Given the description of an element on the screen output the (x, y) to click on. 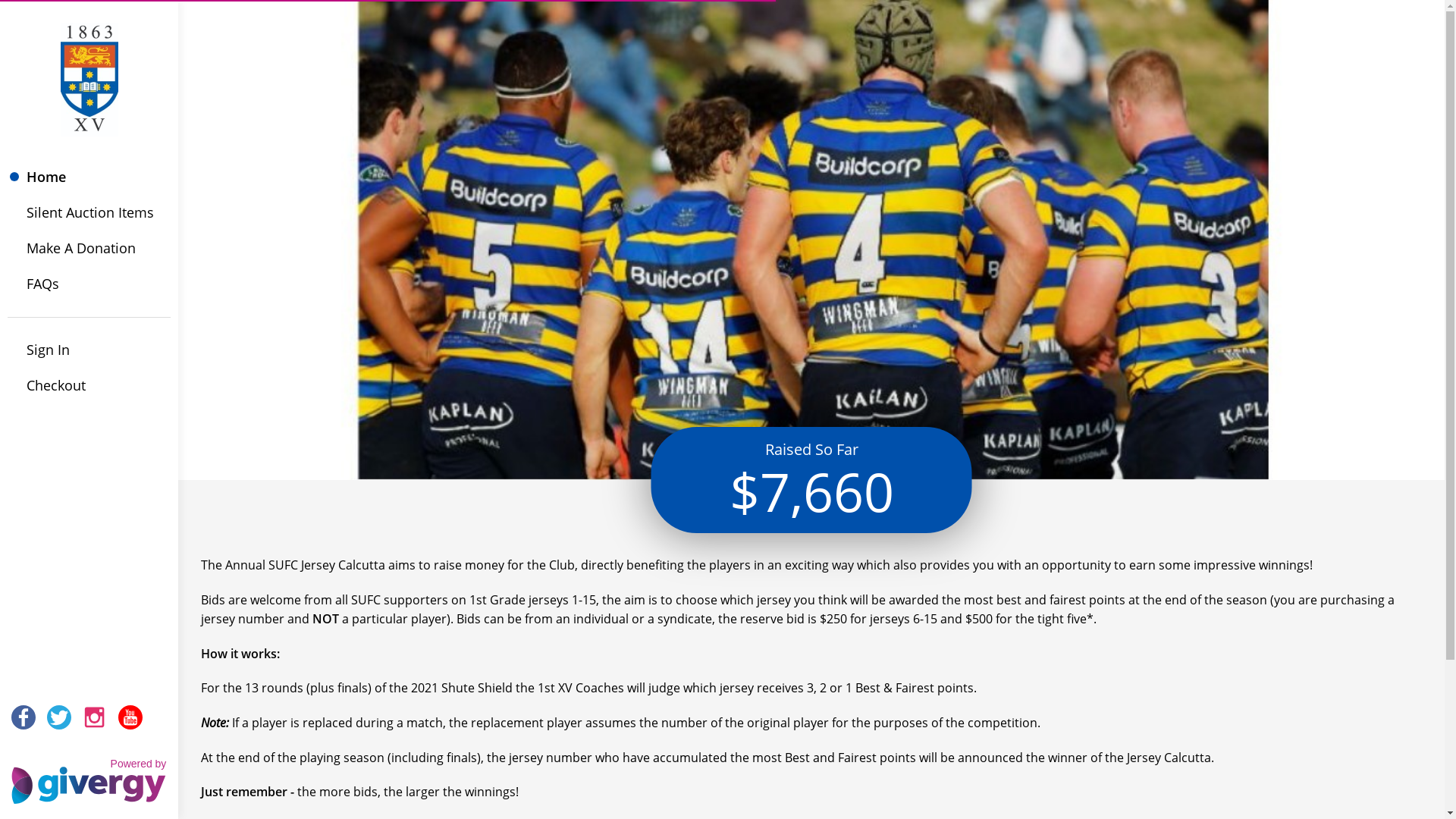
Our Instagram page (opens new window) Element type: hover (94, 717)
Sign In Element type: text (89, 349)
Home Element type: text (89, 176)
FAQs Element type: text (89, 283)
Checkout Element type: text (89, 385)
Our Twitter page (opens new window) Element type: hover (59, 717)
Make A Donation Element type: text (89, 248)
Our Facebook page (opens new window) Element type: hover (23, 717)
Our Youtube page (opens new window) Element type: hover (130, 717)
Silent Auction Items Element type: text (89, 212)
